Given the description of an element on the screen output the (x, y) to click on. 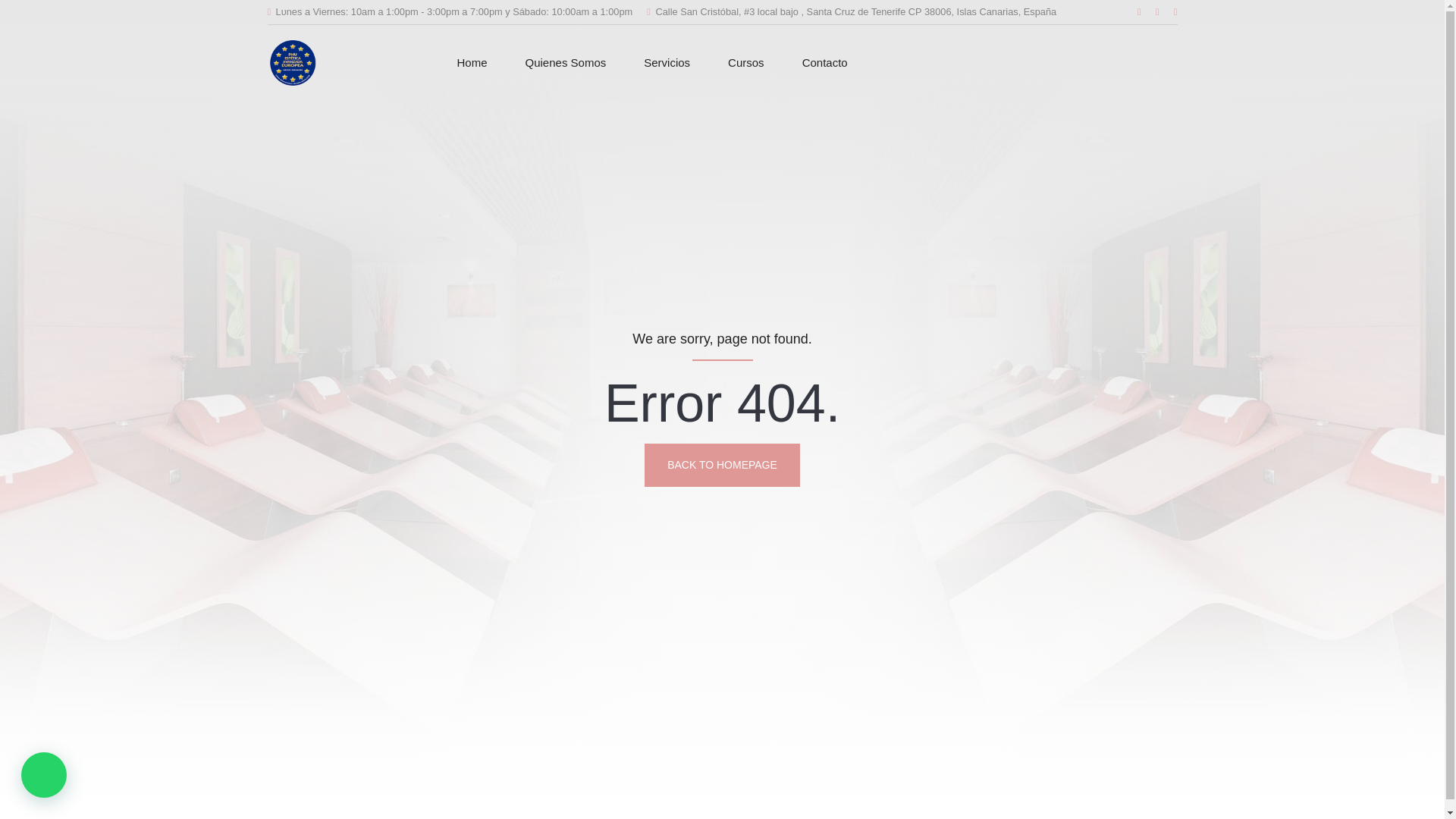
BACK TO HOMEPAGE (722, 464)
Quienes Somos (566, 62)
